Given the description of an element on the screen output the (x, y) to click on. 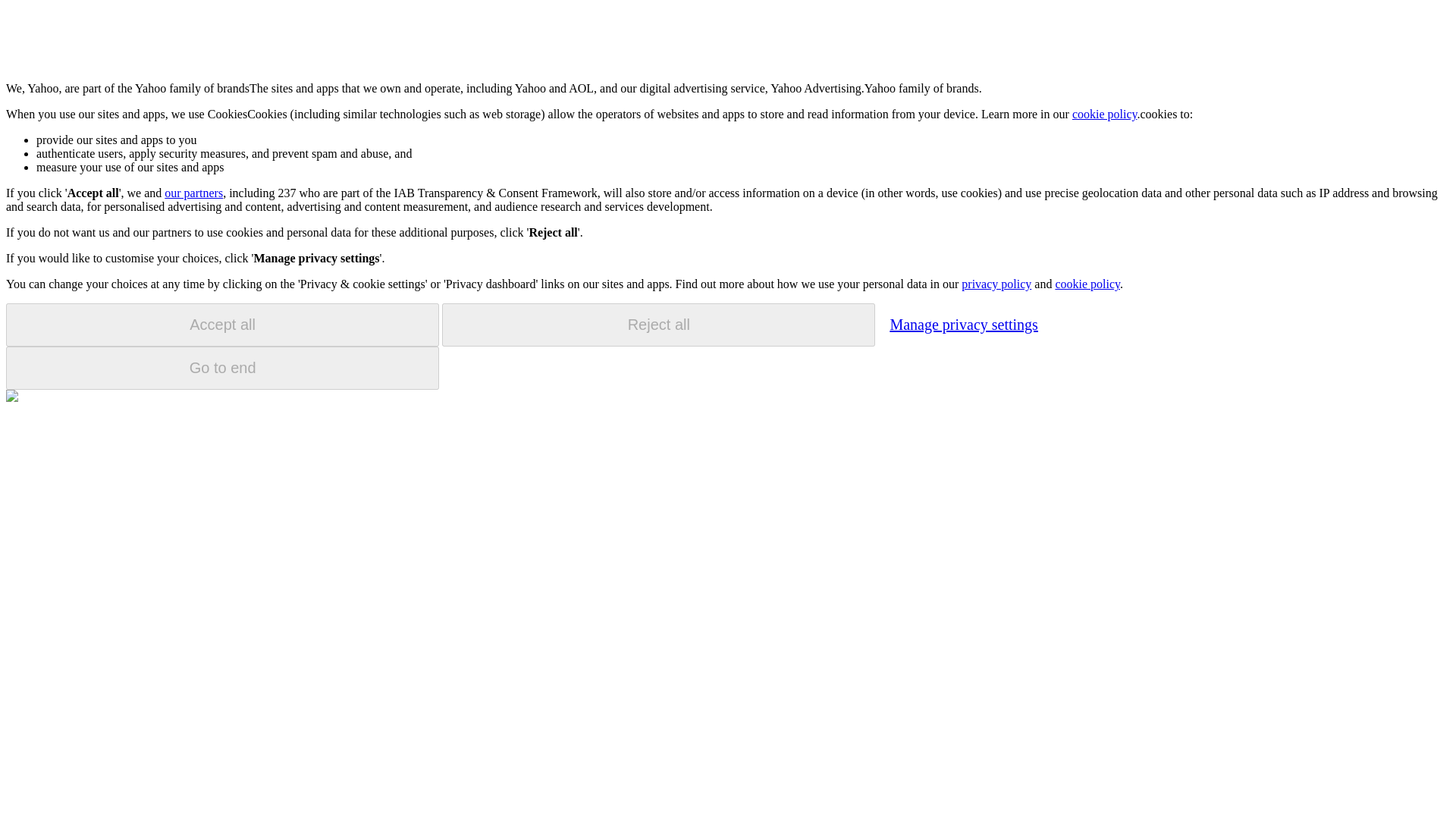
our partners (193, 192)
Accept all (222, 324)
cookie policy (1104, 113)
Reject all (658, 324)
cookie policy (1086, 283)
Manage privacy settings (963, 323)
privacy policy (995, 283)
Go to end (222, 367)
